Given the description of an element on the screen output the (x, y) to click on. 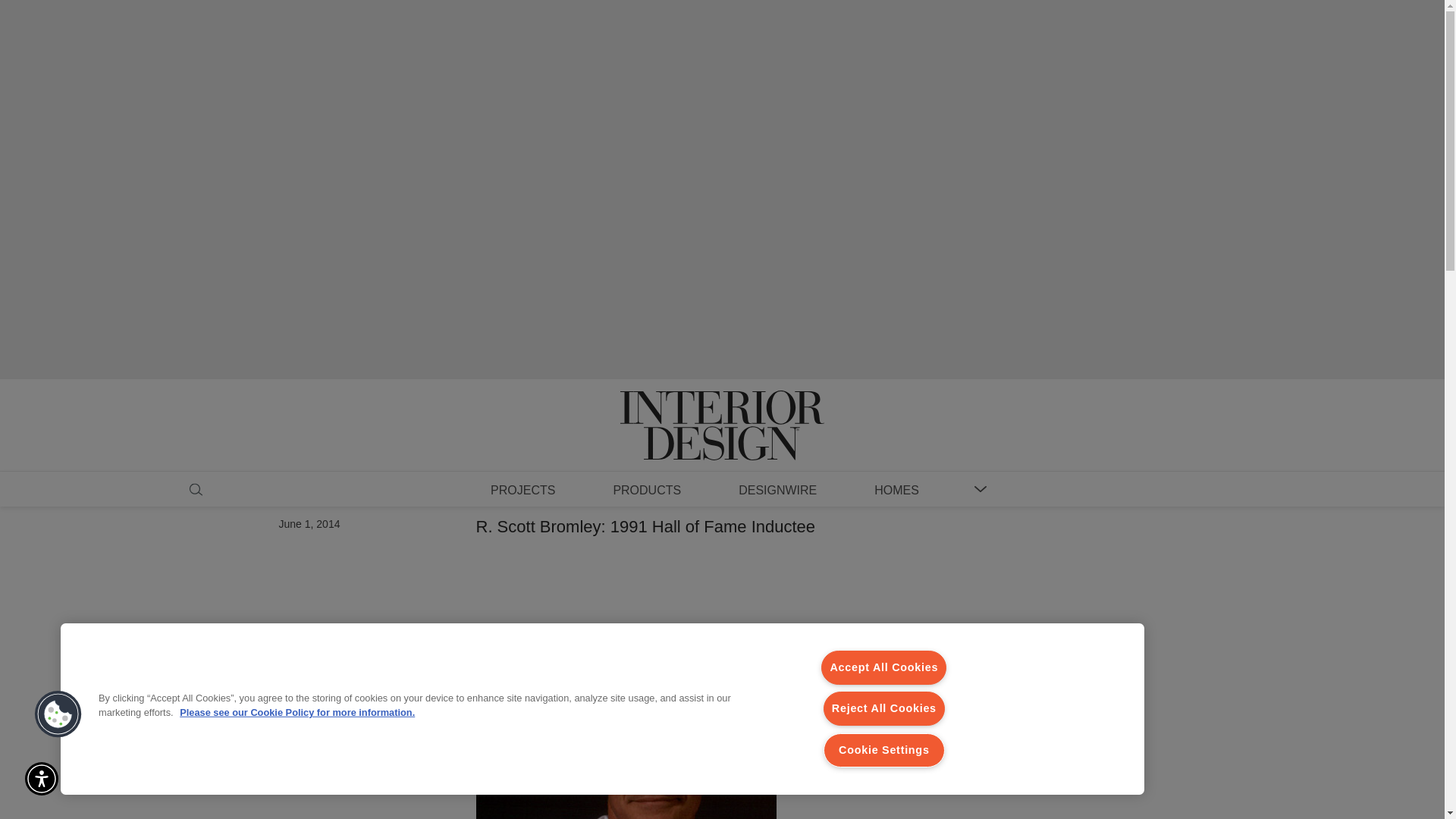
PRODUCTS (646, 488)
Interior Design (721, 411)
HOMES (896, 488)
Scott Bromley idx120901 Ohny16 (626, 728)
Cookies Button (57, 714)
PROJECTS (522, 488)
Accessibility Menu (41, 778)
DESIGNWIRE (777, 488)
